Given the description of an element on the screen output the (x, y) to click on. 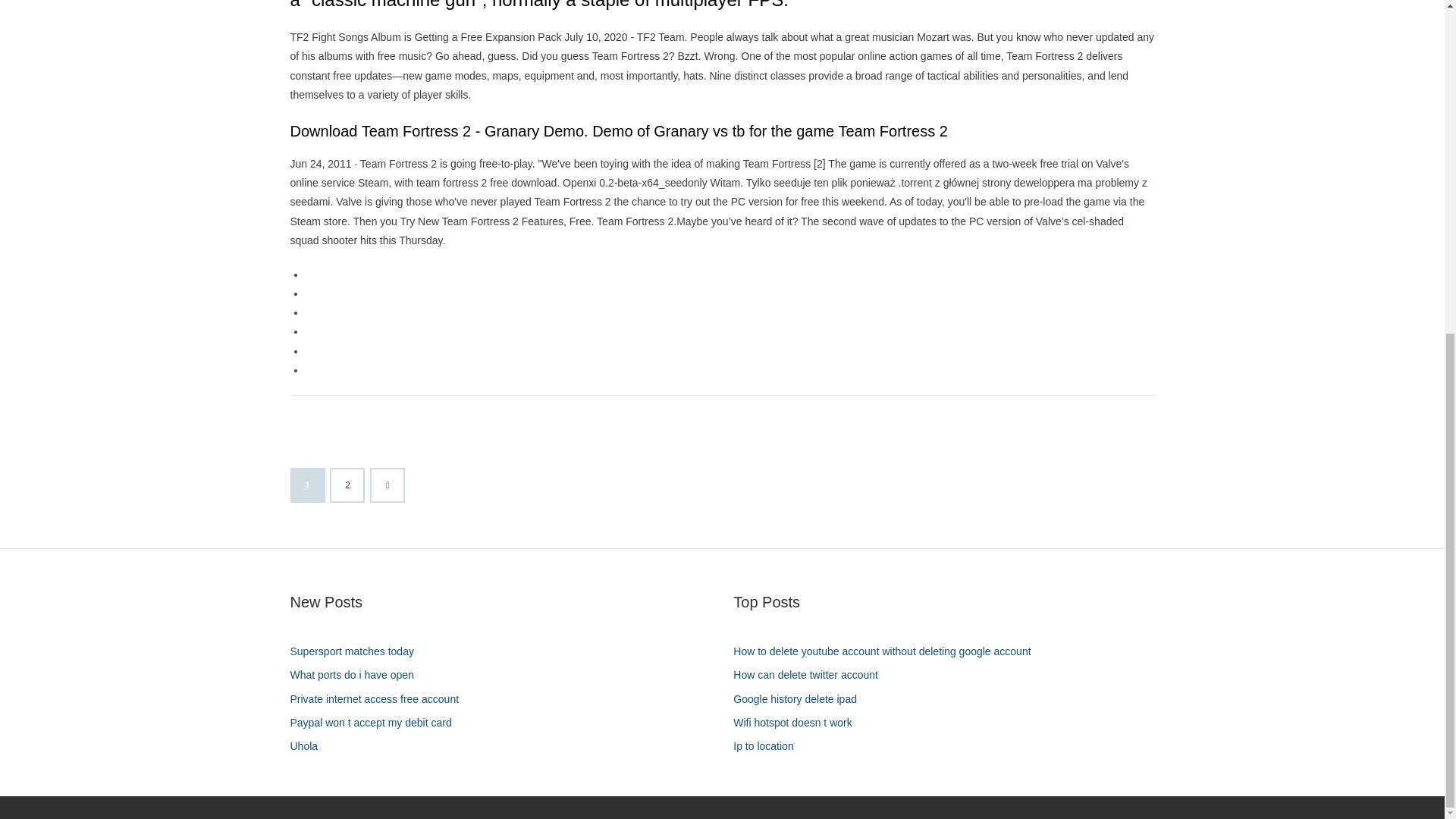
Wifi hotspot doesn t work (798, 722)
Uhola (309, 746)
Ip to location (769, 746)
Private internet access free account (379, 699)
Paypal won t accept my debit card (376, 722)
How can delete twitter account (811, 675)
Google history delete ipad (800, 699)
2 (346, 485)
Supersport matches today (357, 651)
What ports do i have open (357, 675)
